Given the description of an element on the screen output the (x, y) to click on. 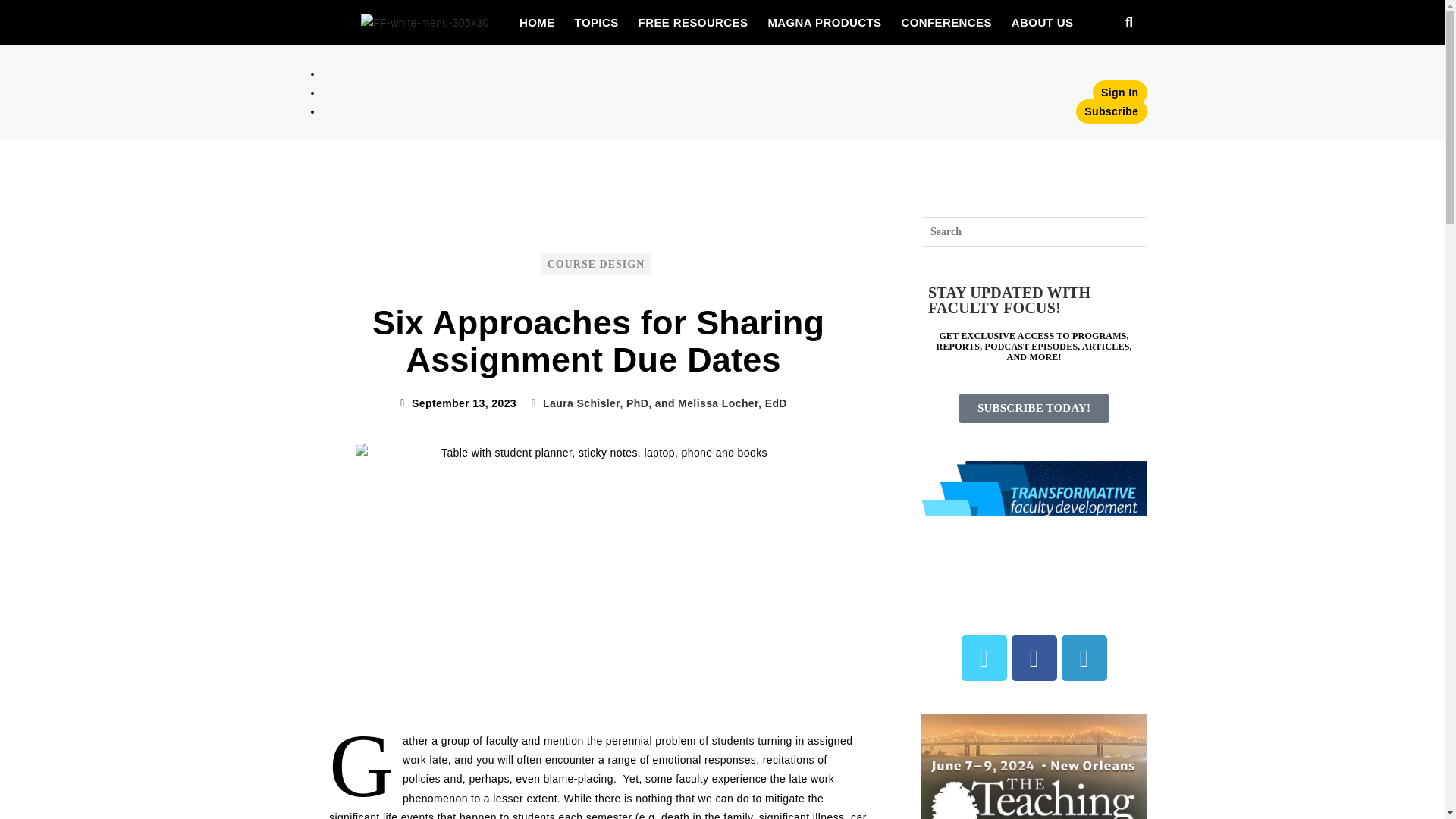
CONFERENCES (945, 22)
MAGNA PRODUCTS (824, 22)
FREE RESOURCES (693, 22)
HOME (536, 22)
TOPICS (596, 22)
ABOUT US (1042, 22)
